Given the description of an element on the screen output the (x, y) to click on. 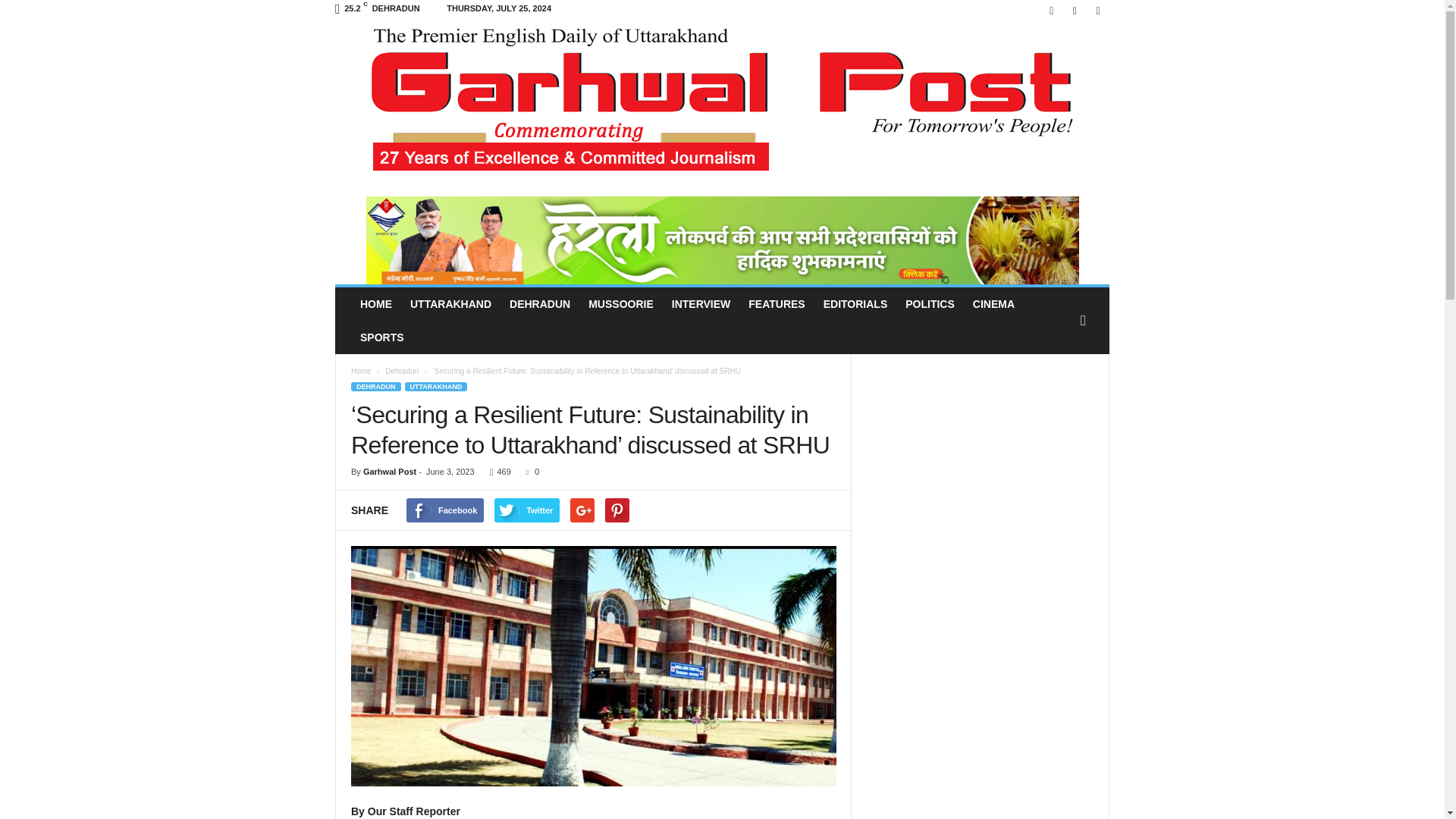
Facebook (1051, 11)
Home (361, 370)
INTERVIEW (700, 304)
SRHU (592, 666)
Dehradun (402, 370)
Youtube (1097, 11)
DEHRADUN (539, 304)
Twitter (1074, 11)
UTTARAKHAND (450, 304)
View all posts in Dehradun (402, 370)
HOME (375, 304)
SPORTS (381, 337)
POLITICS (929, 304)
CINEMA (993, 304)
